Given the description of an element on the screen output the (x, y) to click on. 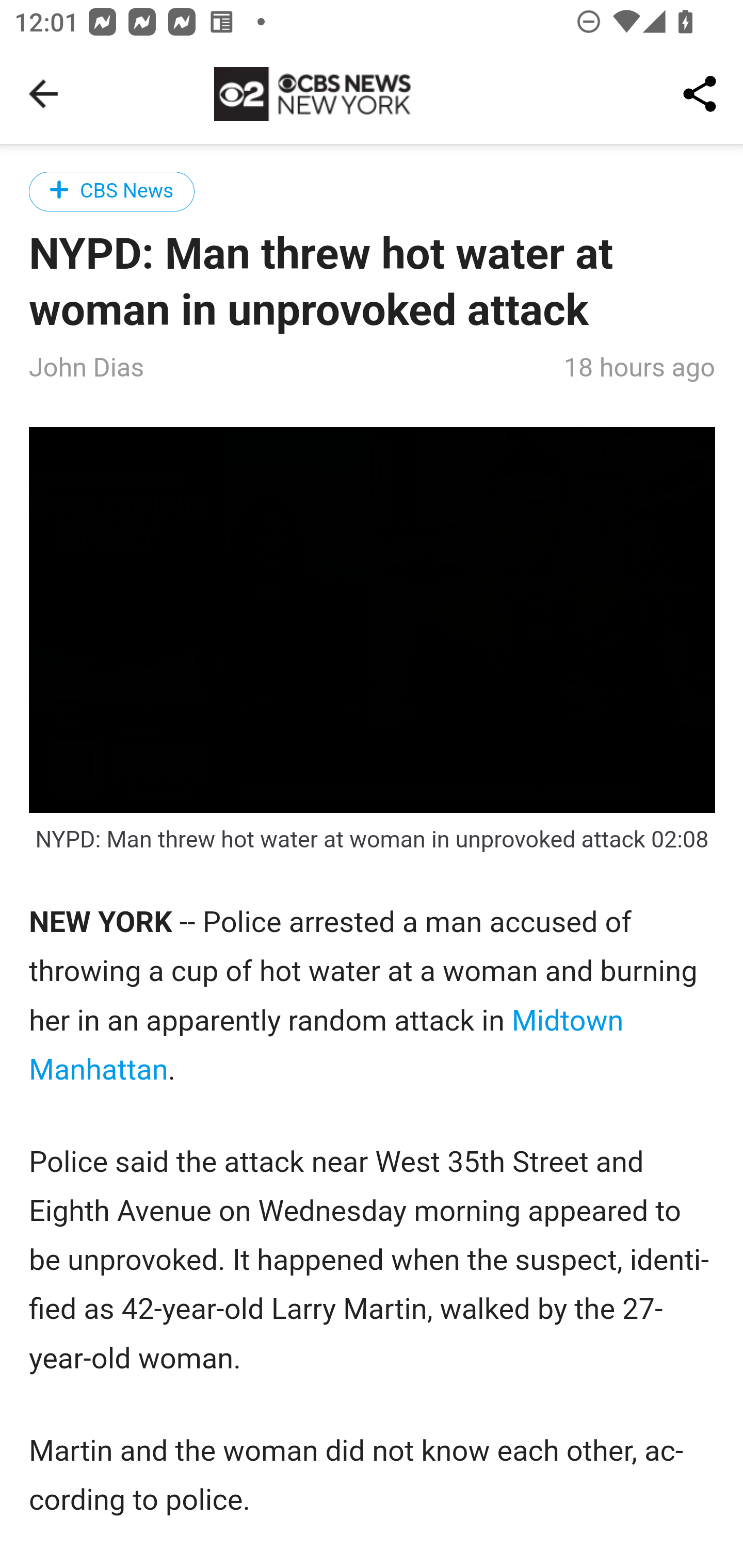
CBS News (112, 191)
Midtown Manhattan (326, 1045)
